Given the description of an element on the screen output the (x, y) to click on. 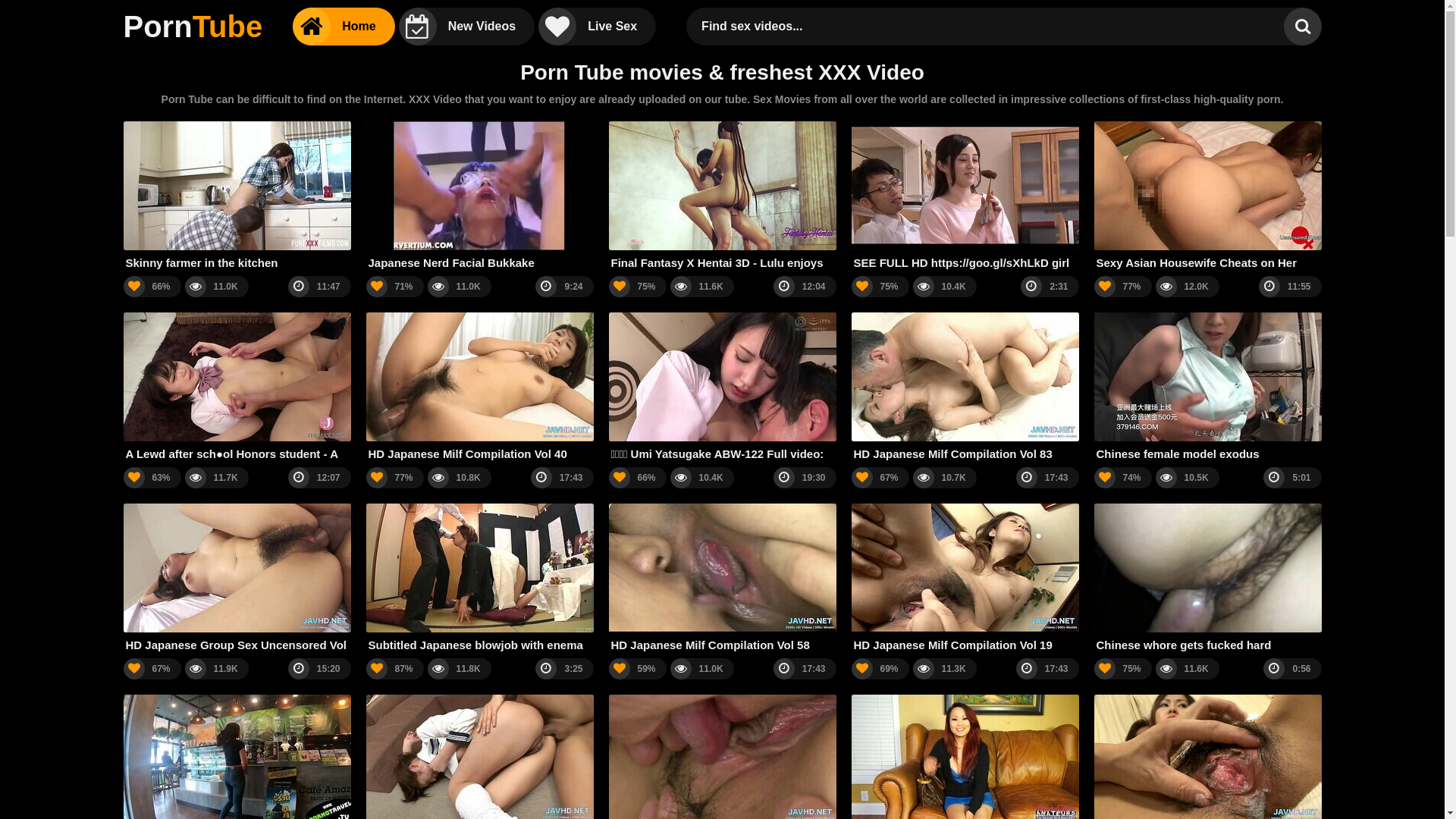
Skinny farmer in the kitchen Element type: text (236, 195)
HD Japanese Milf Compilation Vol 19 Element type: text (964, 577)
HD Japanese Group Sex Uncensored Vol 15 Element type: text (236, 577)
Use Latin letters, digits, space, - Element type: hover (988, 26)
Live Sex Element type: text (596, 26)
Home Element type: text (343, 26)
HD Japanese Milf Compilation Vol 58 Element type: text (721, 577)
Chinese female model exodus Element type: text (1207, 386)
PornTube Element type: text (192, 26)
Chinese whore gets fucked hard Element type: text (1207, 577)
HD Japanese Milf Compilation Vol 40 Element type: text (479, 386)
SEE FULL HD https://goo.gl/sXhLkD girl japanese sex big- tit Element type: text (964, 195)
New Videos Element type: text (466, 26)
Sexy Asian Housewife Cheats on Her Husband Element type: text (1207, 195)
HD Japanese Milf Compilation Vol 83 Element type: text (964, 386)
Search Element type: hover (1302, 26)
Japanese Nerd Facial Bukkake Element type: text (479, 195)
Subtitled Japanese blowjob with enema explosion HD Element type: text (479, 577)
